Given the description of an element on the screen output the (x, y) to click on. 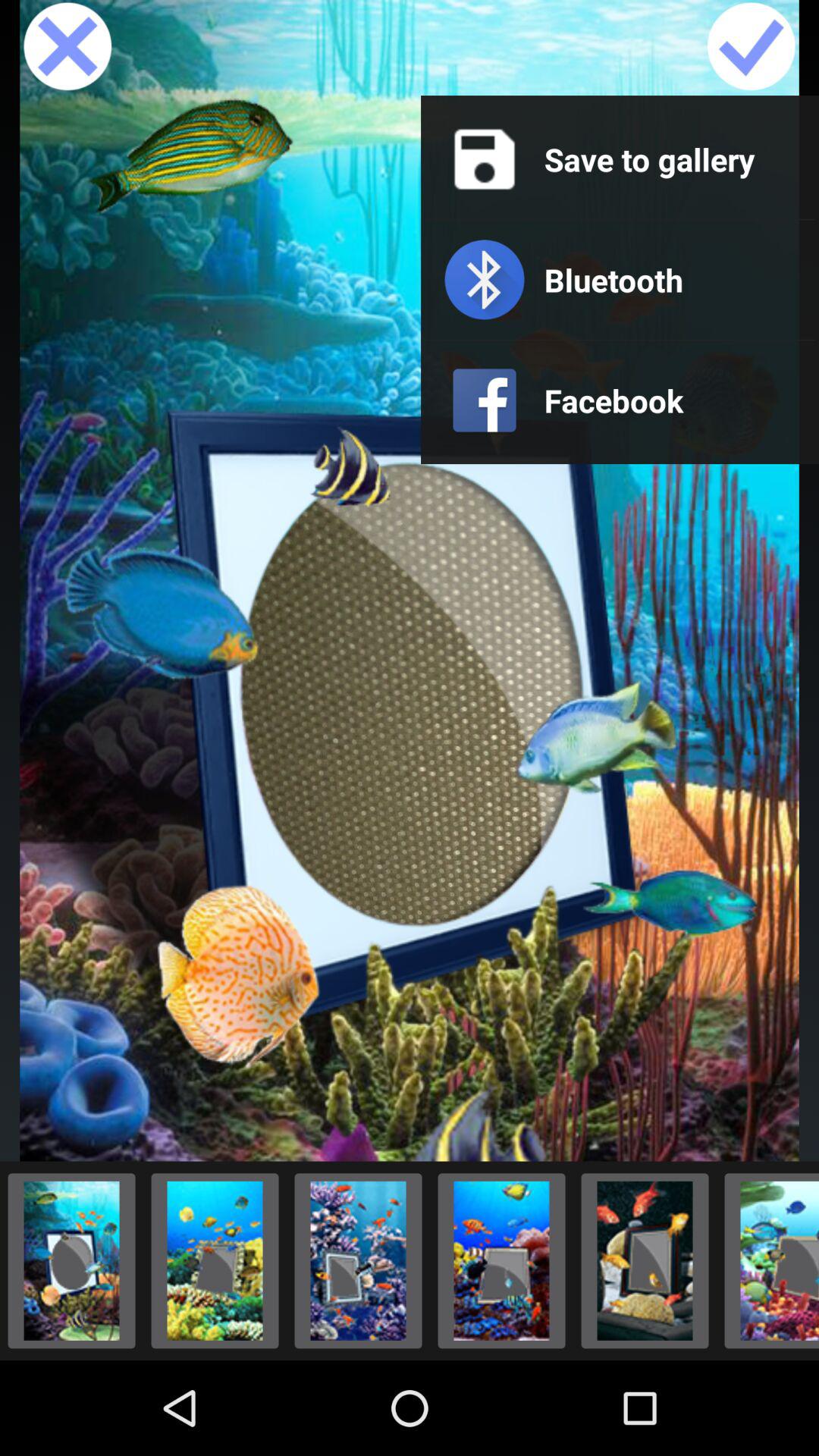
close the page (67, 47)
